Given the description of an element on the screen output the (x, y) to click on. 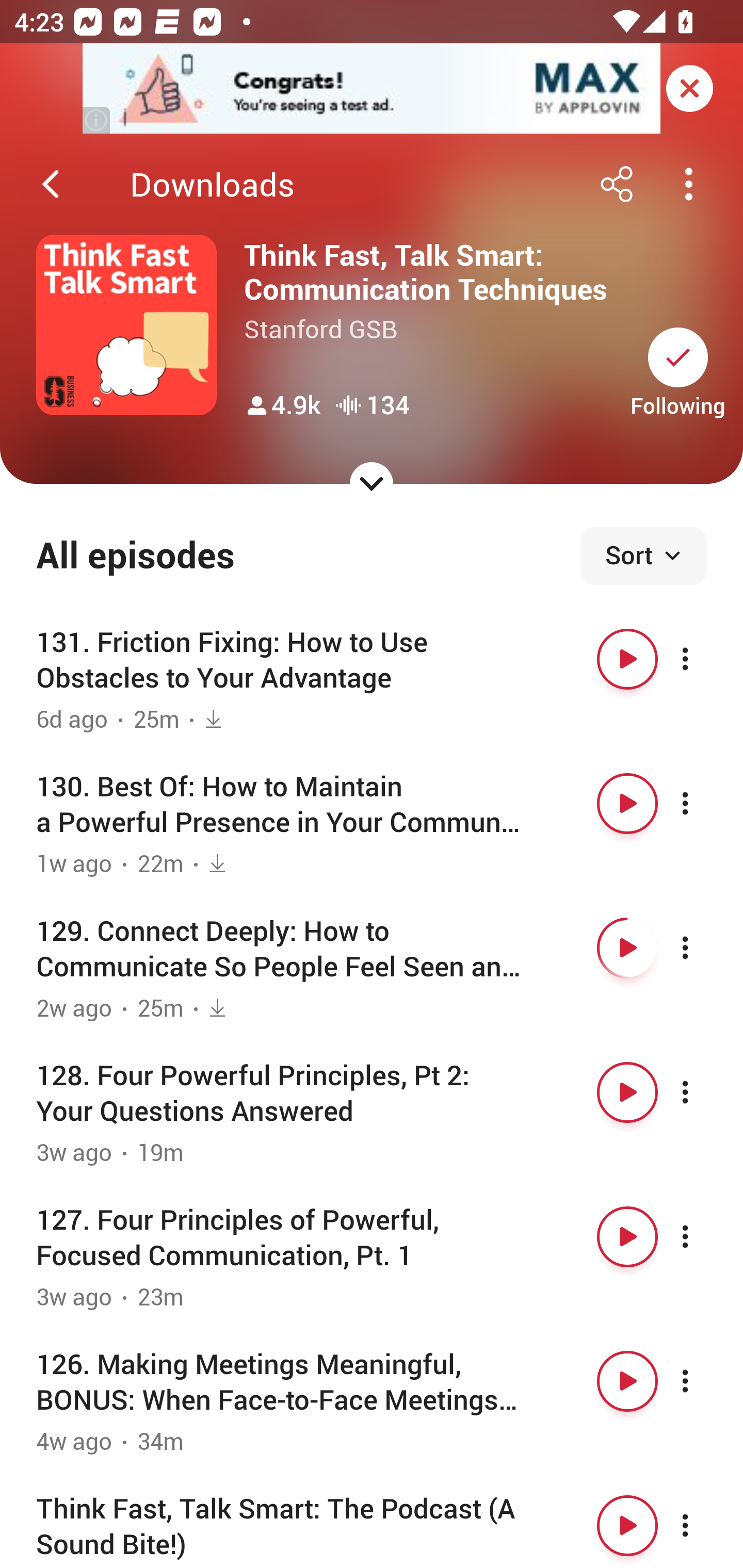
app-monetization (371, 88)
(i) (96, 119)
Back (50, 184)
Unsubscribe button (677, 357)
Sort episodes Sort (643, 555)
Play button (627, 659)
More options (703, 659)
Play button (627, 803)
More options (703, 803)
Play button (627, 947)
More options (703, 947)
Play button (627, 1092)
More options (703, 1092)
Play button (627, 1236)
More options (703, 1236)
Play button (627, 1381)
More options (703, 1381)
Play button (627, 1525)
More options (703, 1525)
